Given the description of an element on the screen output the (x, y) to click on. 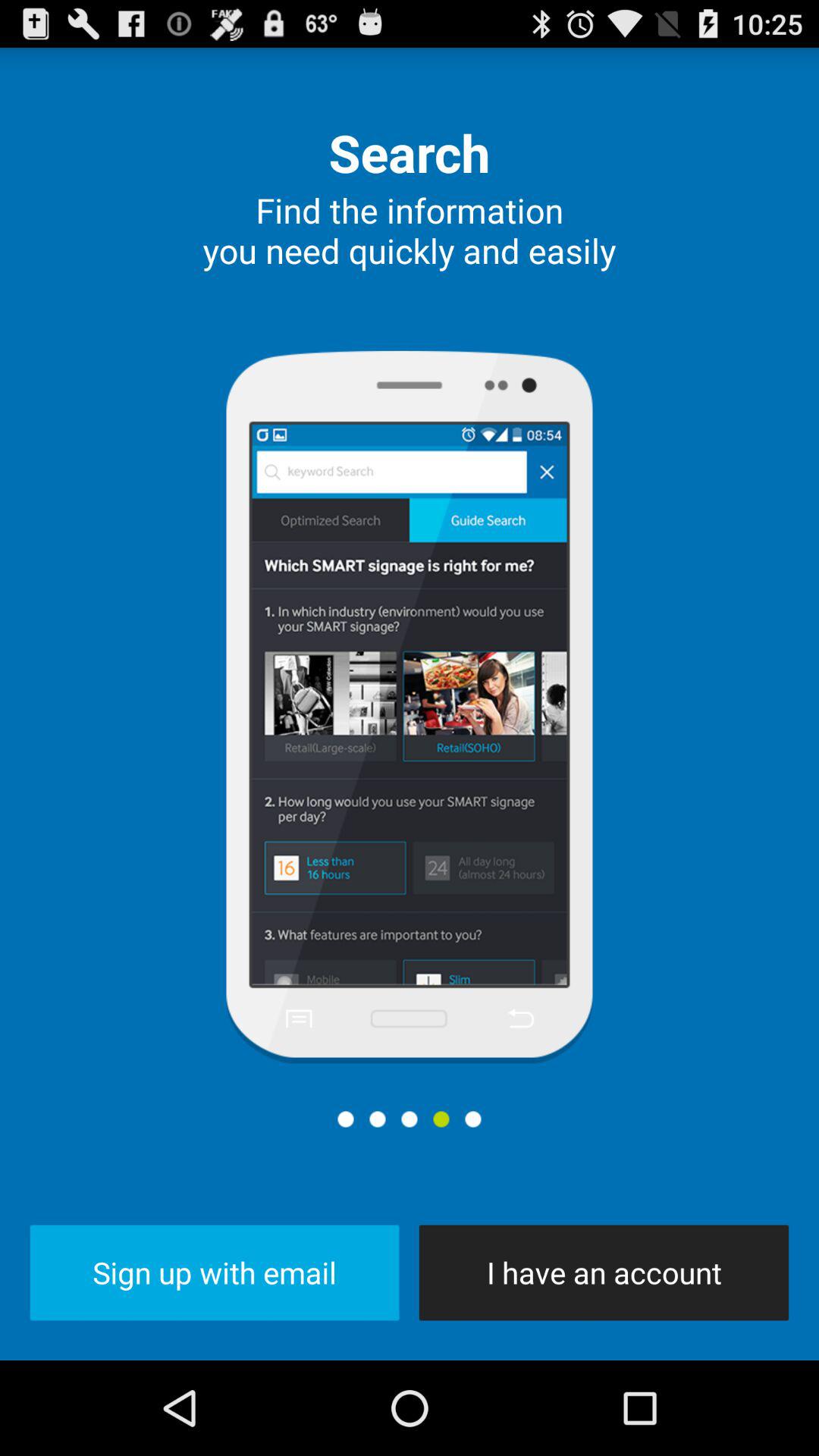
launch button next to the i have an icon (214, 1272)
